Given the description of an element on the screen output the (x, y) to click on. 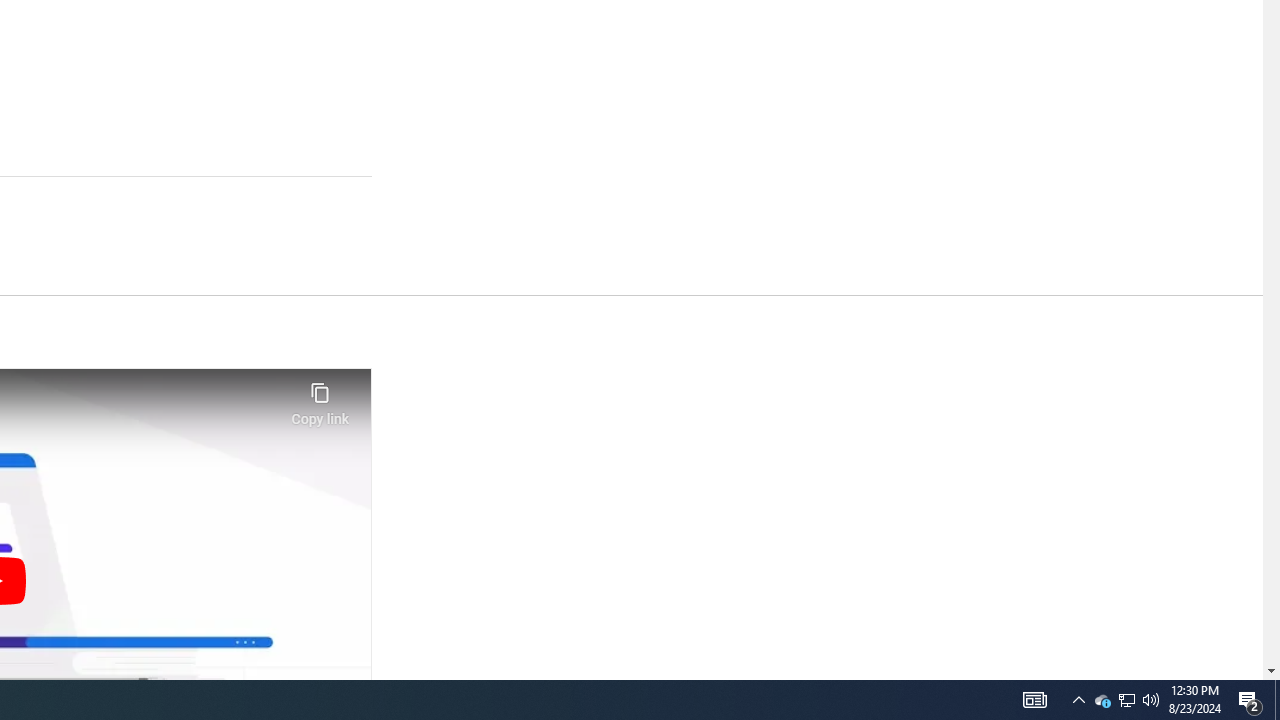
Copy link (319, 398)
